Given the description of an element on the screen output the (x, y) to click on. 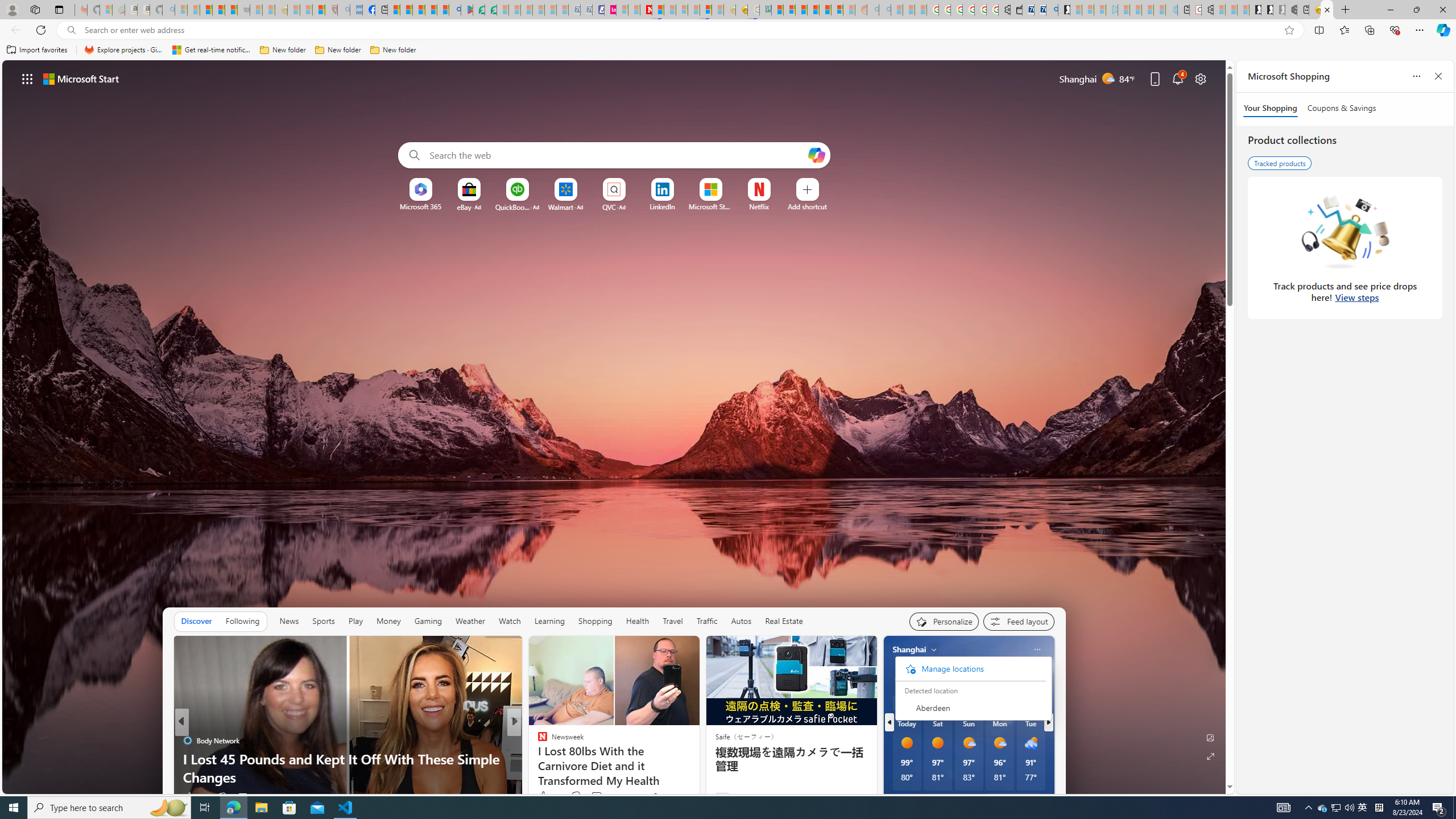
Bing Real Estate - Home sales and rental listings (1051, 9)
Learning (549, 621)
Microsoft account | Privacy - Sleeping (1099, 9)
google - Search (454, 9)
Home | Sky Blue Bikes - Sky Blue Bikes - Sleeping (1171, 9)
